Given the description of an element on the screen output the (x, y) to click on. 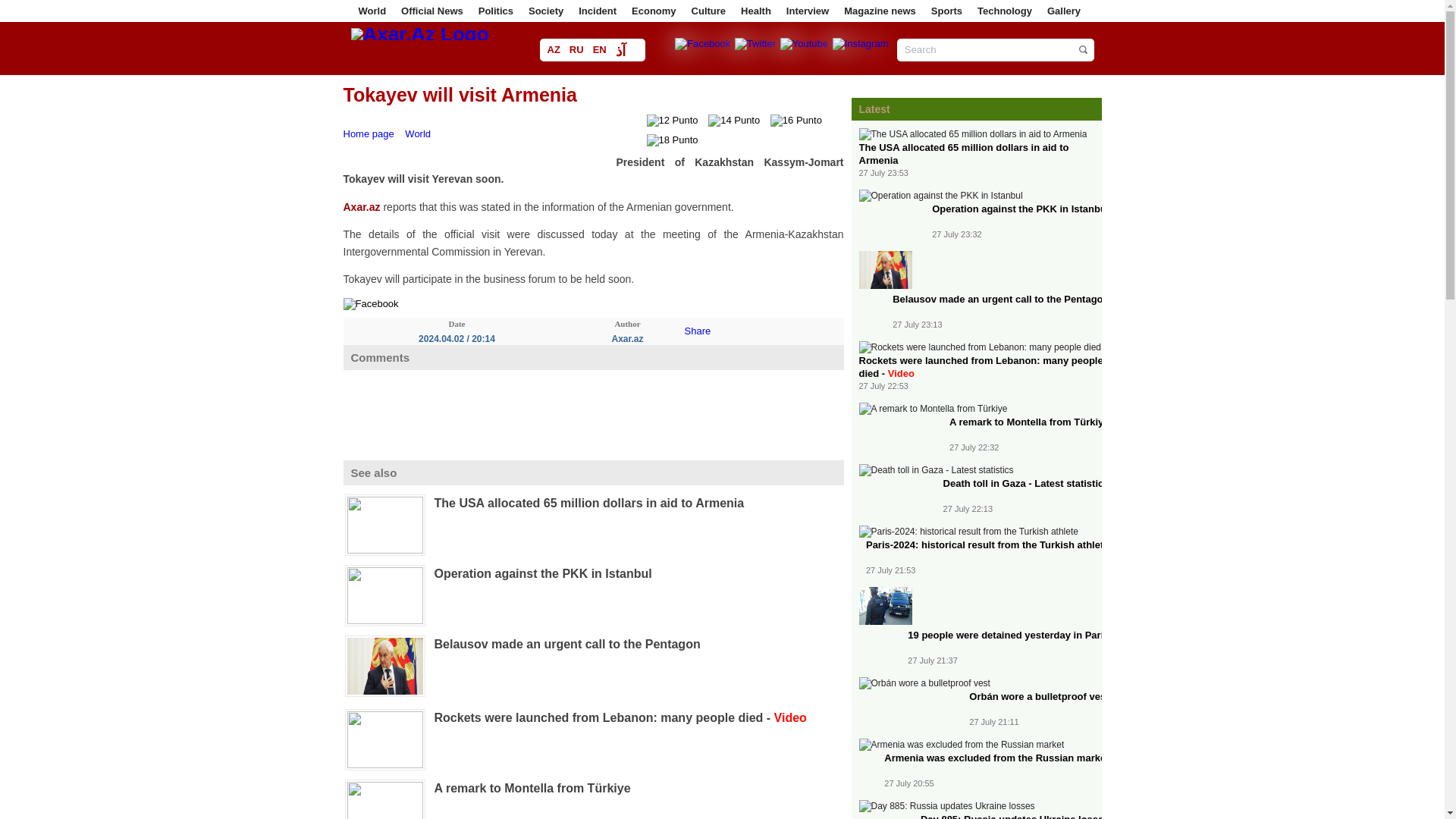
Youtube (804, 43)
Gallery (1063, 10)
Politics (496, 10)
Sports (946, 10)
Magazine news (879, 10)
Technology (1004, 10)
Society (545, 10)
Official News (432, 10)
Culture (708, 10)
Twitter (755, 43)
Incident (596, 10)
Search (994, 49)
World (371, 10)
Facebook (702, 43)
Health (756, 10)
